Given the description of an element on the screen output the (x, y) to click on. 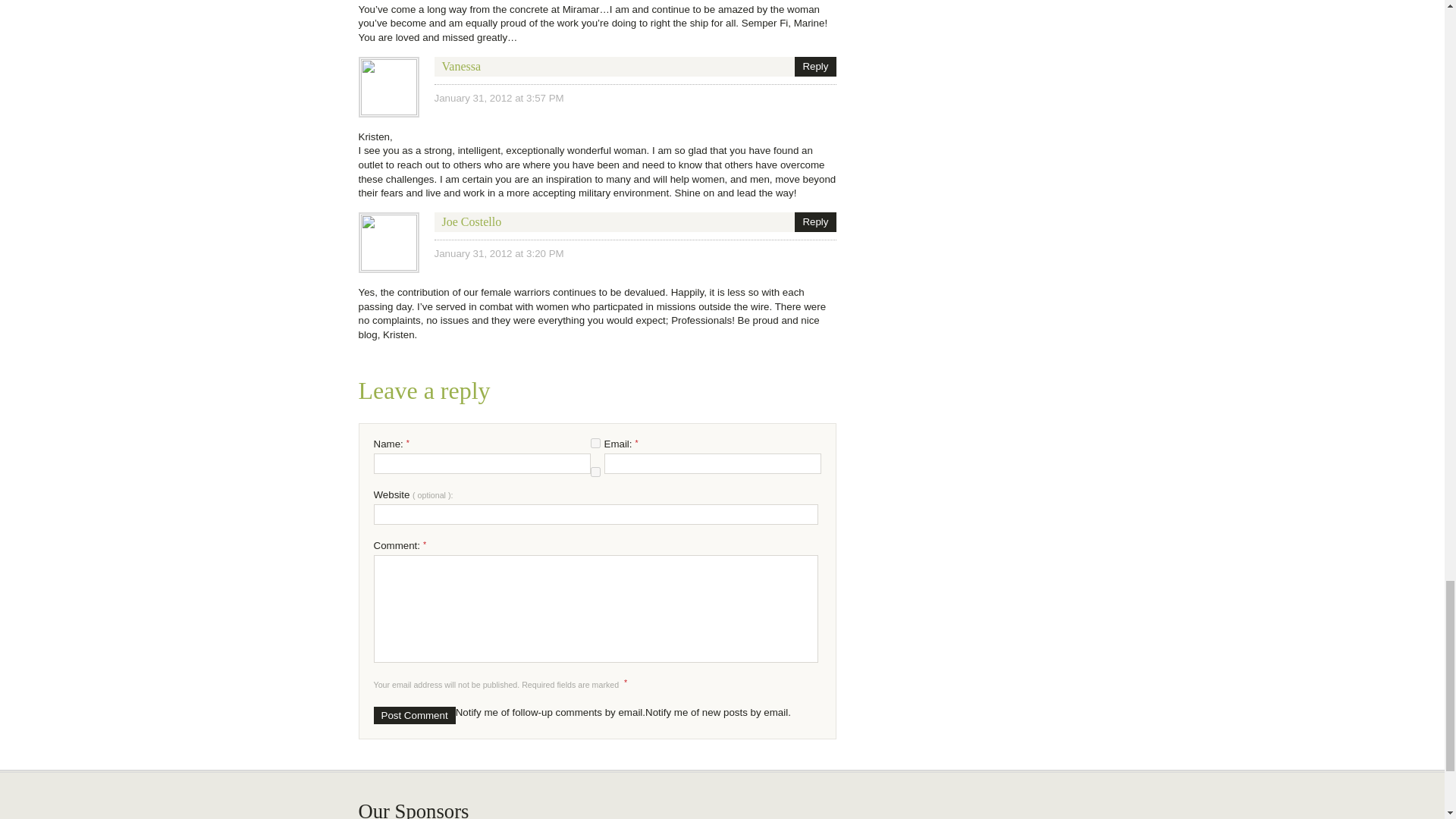
Reply (814, 66)
Post Comment (413, 714)
subscribe (594, 471)
Reply (814, 221)
subscribe (594, 442)
Post Comment (413, 714)
